Given the description of an element on the screen output the (x, y) to click on. 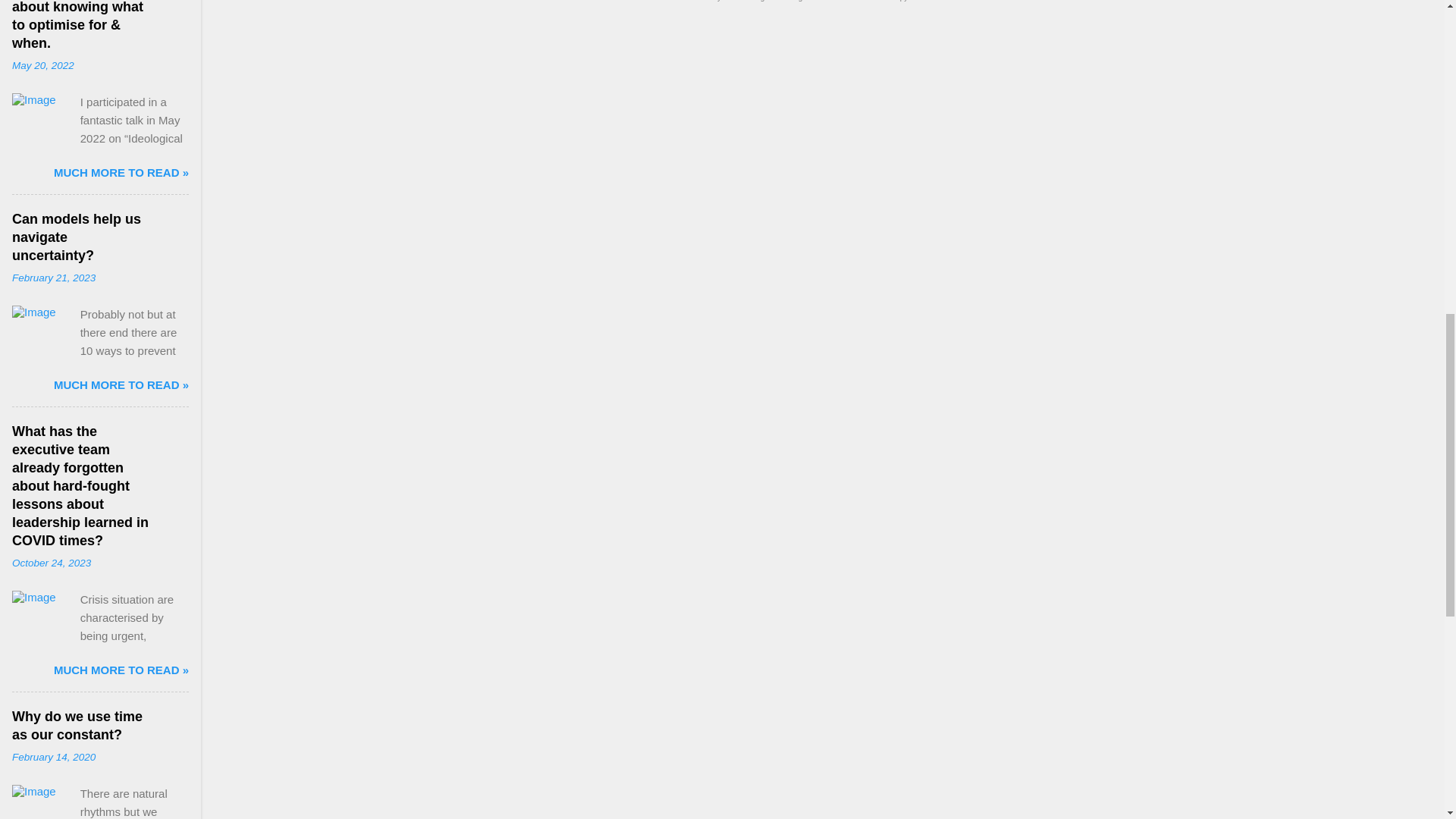
May 20, 2022 (42, 65)
